Given the description of an element on the screen output the (x, y) to click on. 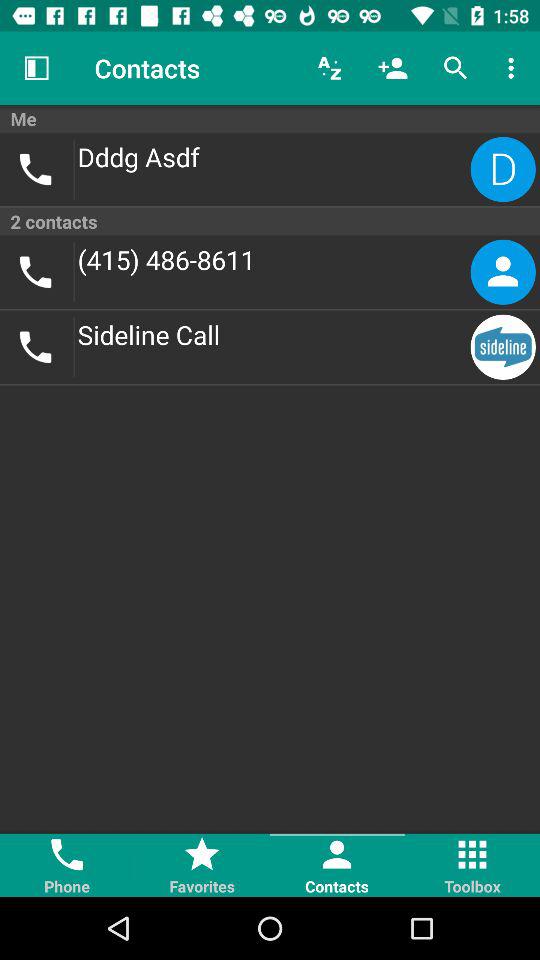
turn off item next to the contacts icon (36, 68)
